Given the description of an element on the screen output the (x, y) to click on. 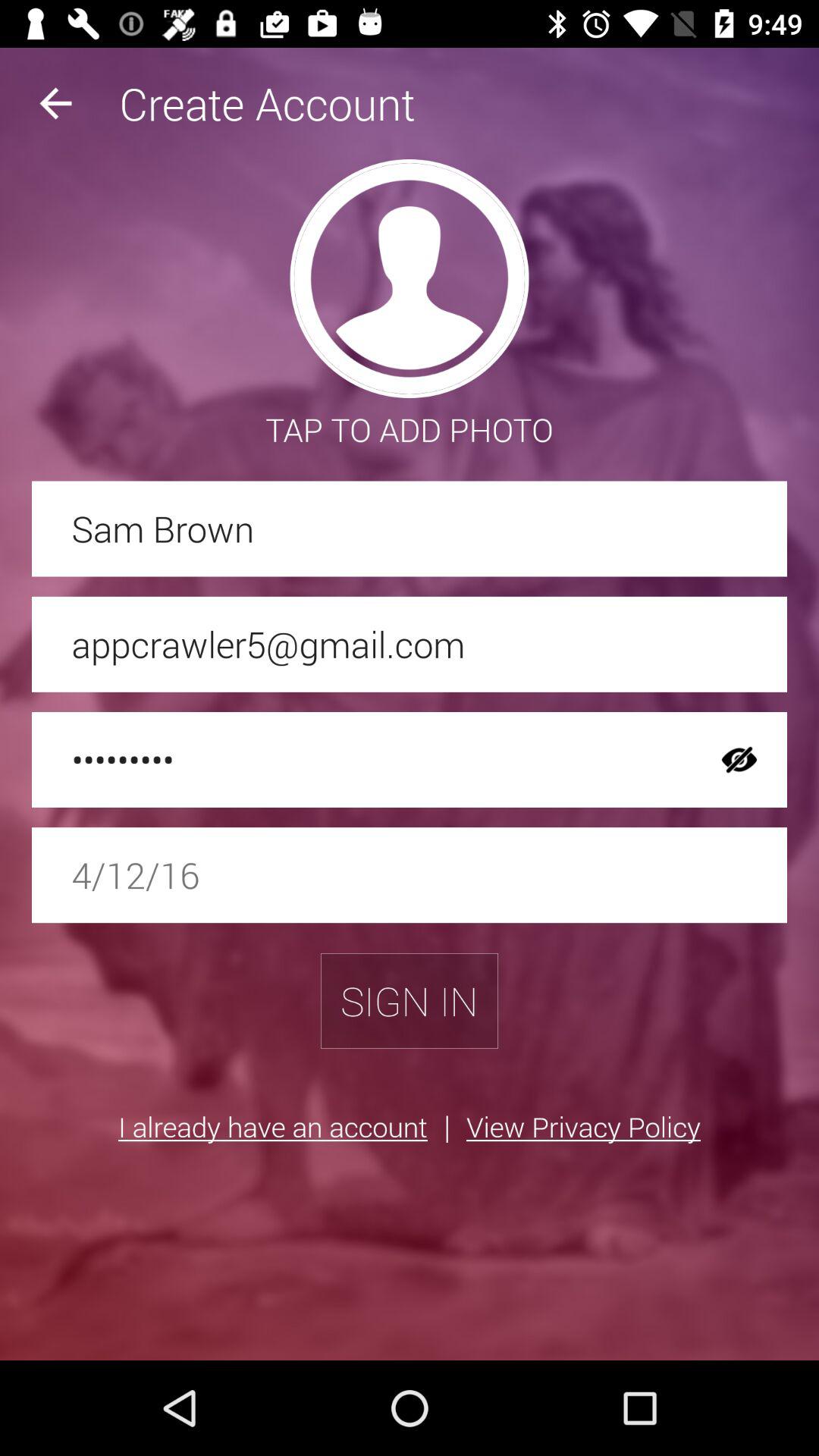
launch the item below the crowd3116 (409, 875)
